Given the description of an element on the screen output the (x, y) to click on. 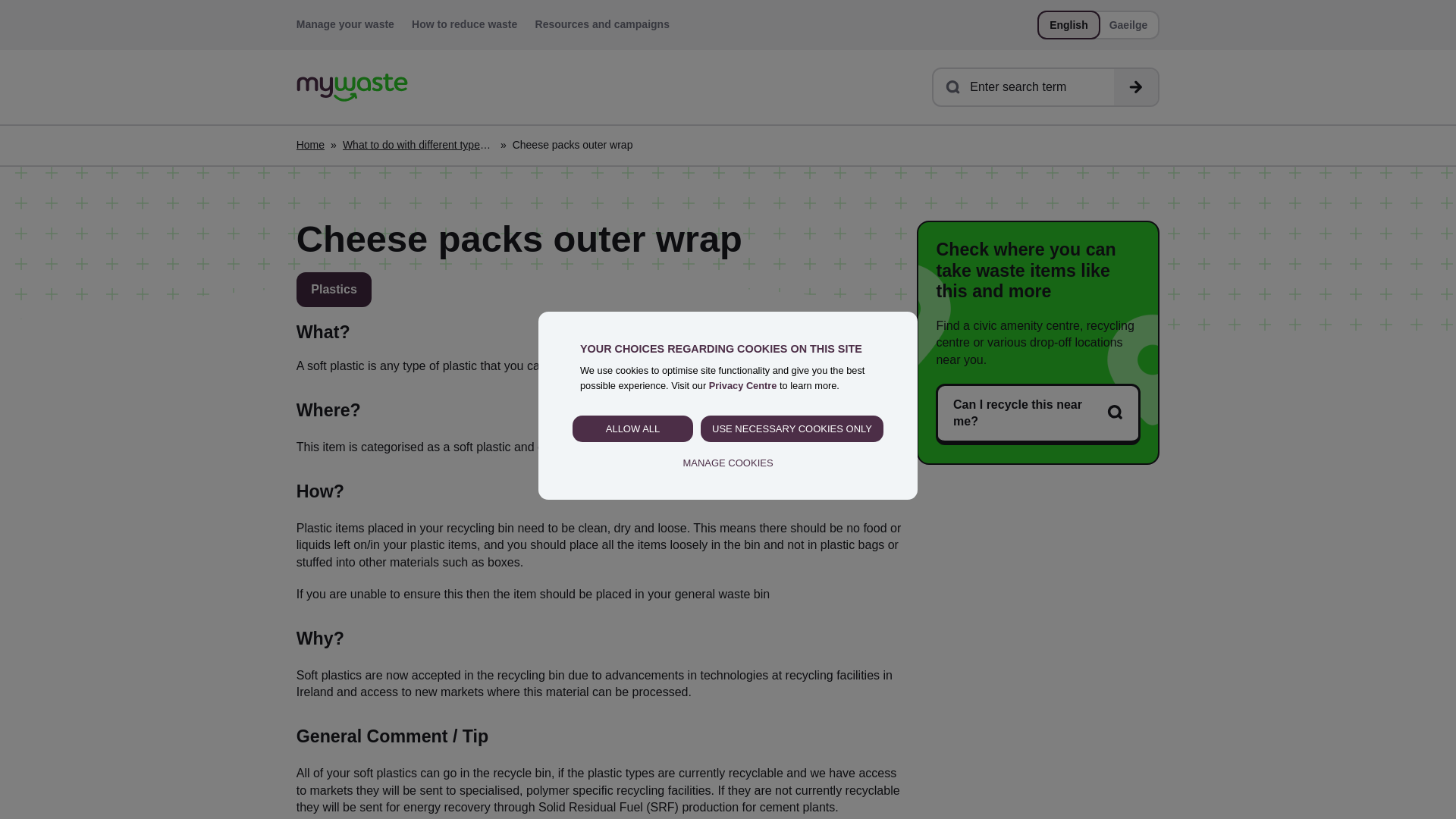
MANAGE COOKIES (727, 462)
Home (352, 87)
What to do with different types of waste (418, 145)
Resources and campaigns (602, 24)
Gaeilge (1129, 25)
Can I recycle this near me? (1038, 414)
USE NECESSARY COOKIES ONLY (791, 429)
Manage your waste (345, 24)
English (1069, 25)
ALLOW ALL (632, 429)
How to reduce waste (464, 24)
Privacy Centre (743, 384)
Home (310, 145)
Search (1135, 86)
